Given the description of an element on the screen output the (x, y) to click on. 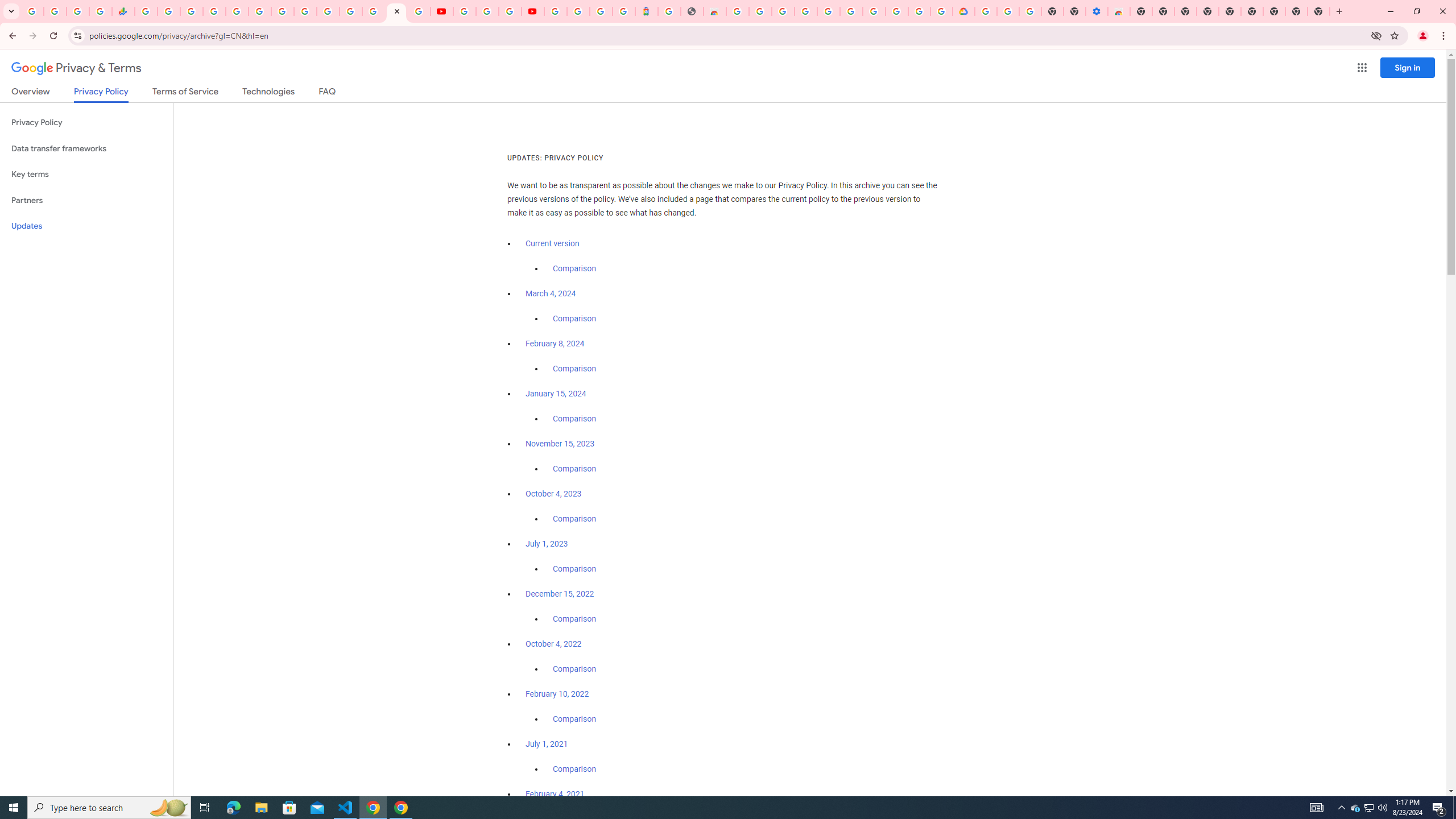
Sign in - Google Accounts (214, 11)
March 4, 2024 (550, 293)
Create your Google Account (510, 11)
July 1, 2021 (546, 743)
December 15, 2022 (559, 593)
Privacy Checkup (419, 11)
Ad Settings (805, 11)
Partners (86, 199)
